Given the description of an element on the screen output the (x, y) to click on. 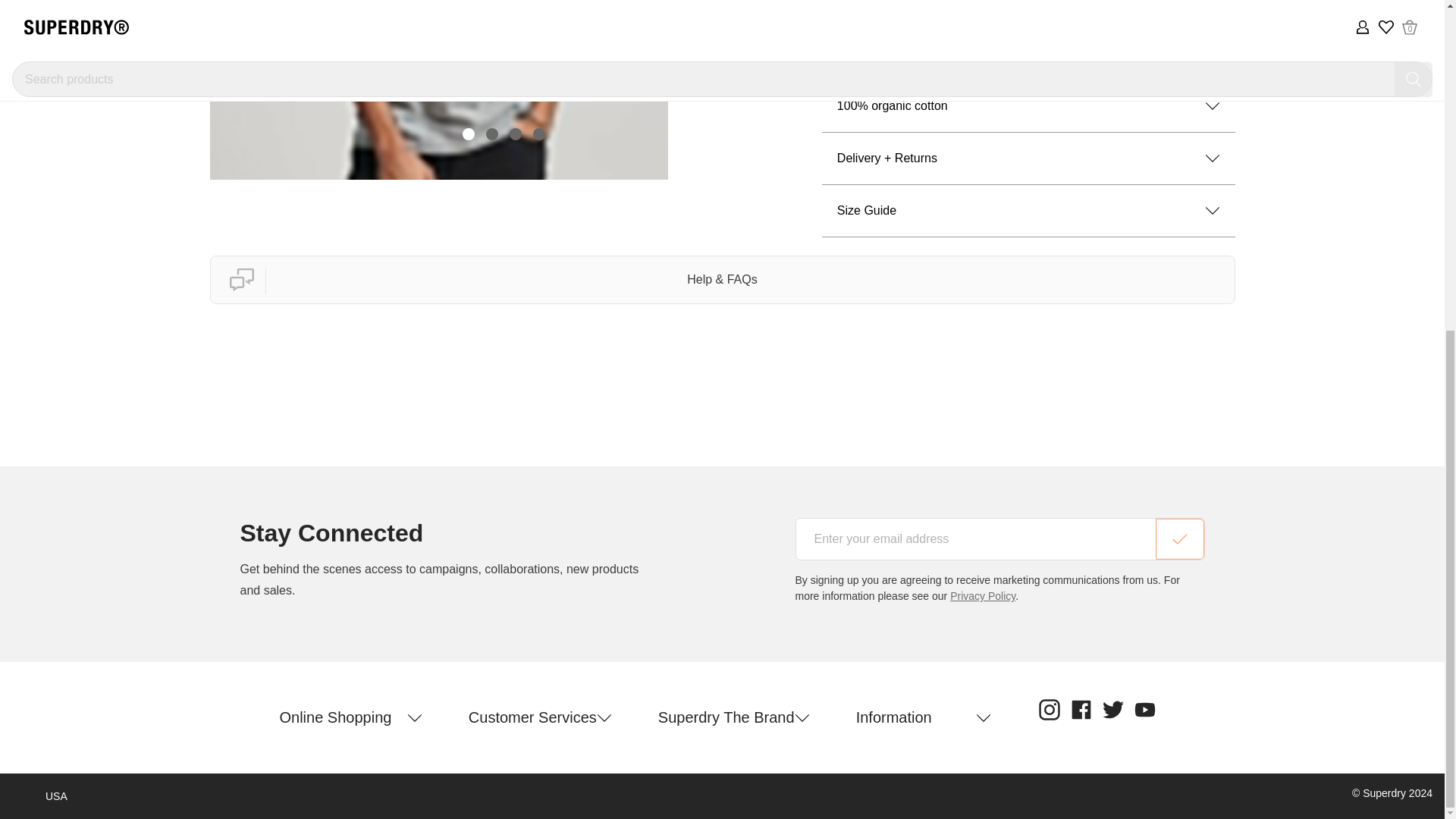
ChevronDown (1212, 105)
ChevronDown (1212, 158)
more (839, 9)
Online Shopping (350, 717)
ChevronDown (1212, 53)
Privacy Policy (982, 595)
Size Guide (1028, 210)
